Given the description of an element on the screen output the (x, y) to click on. 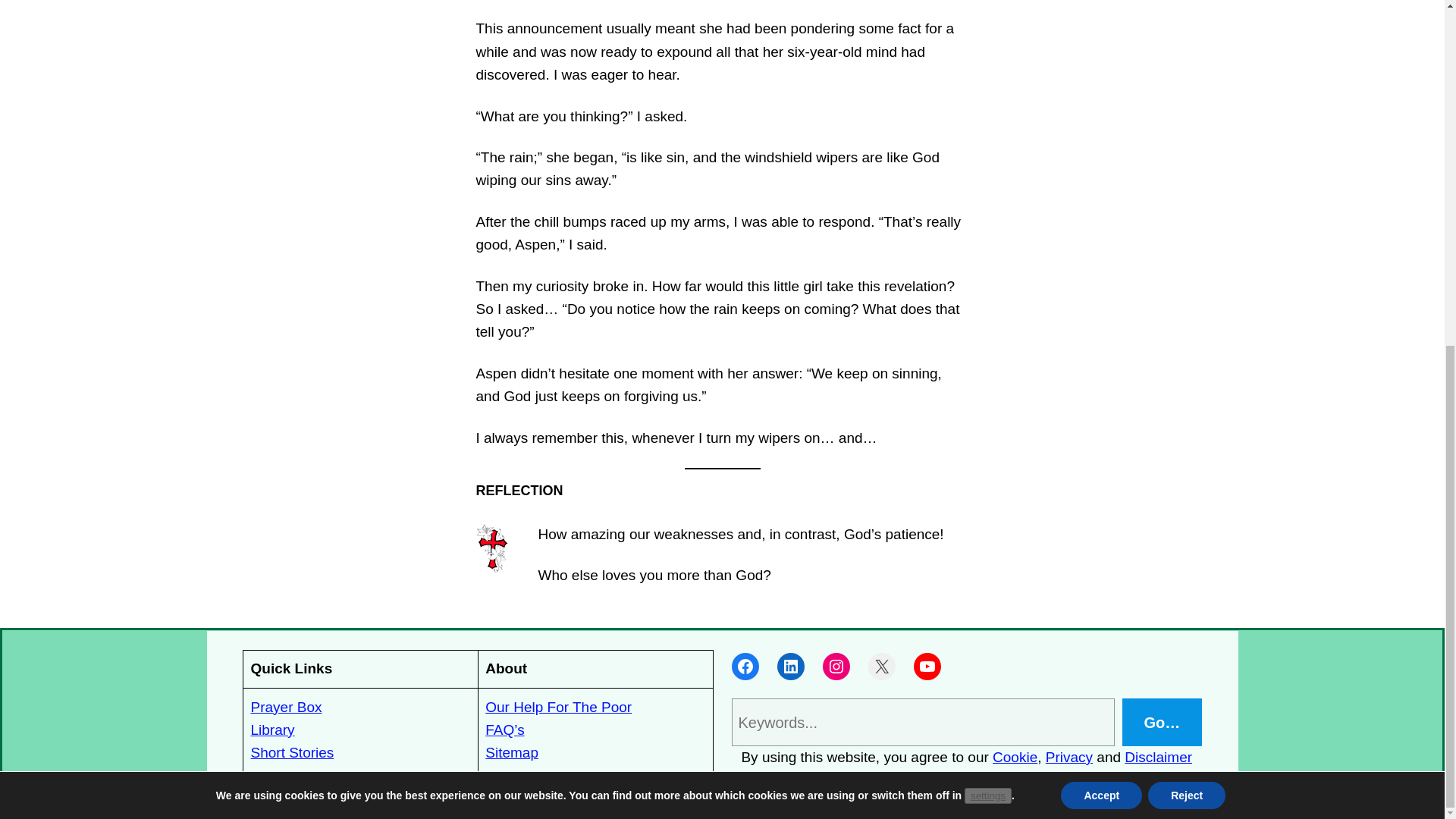
Our Help For The Poor (557, 706)
Contact Us (520, 775)
Sitemap (511, 752)
Facebook (744, 666)
YouTube (926, 666)
Accept (1101, 203)
Reject (1186, 203)
X (881, 666)
Privacy (1069, 756)
settings (987, 202)
